Given the description of an element on the screen output the (x, y) to click on. 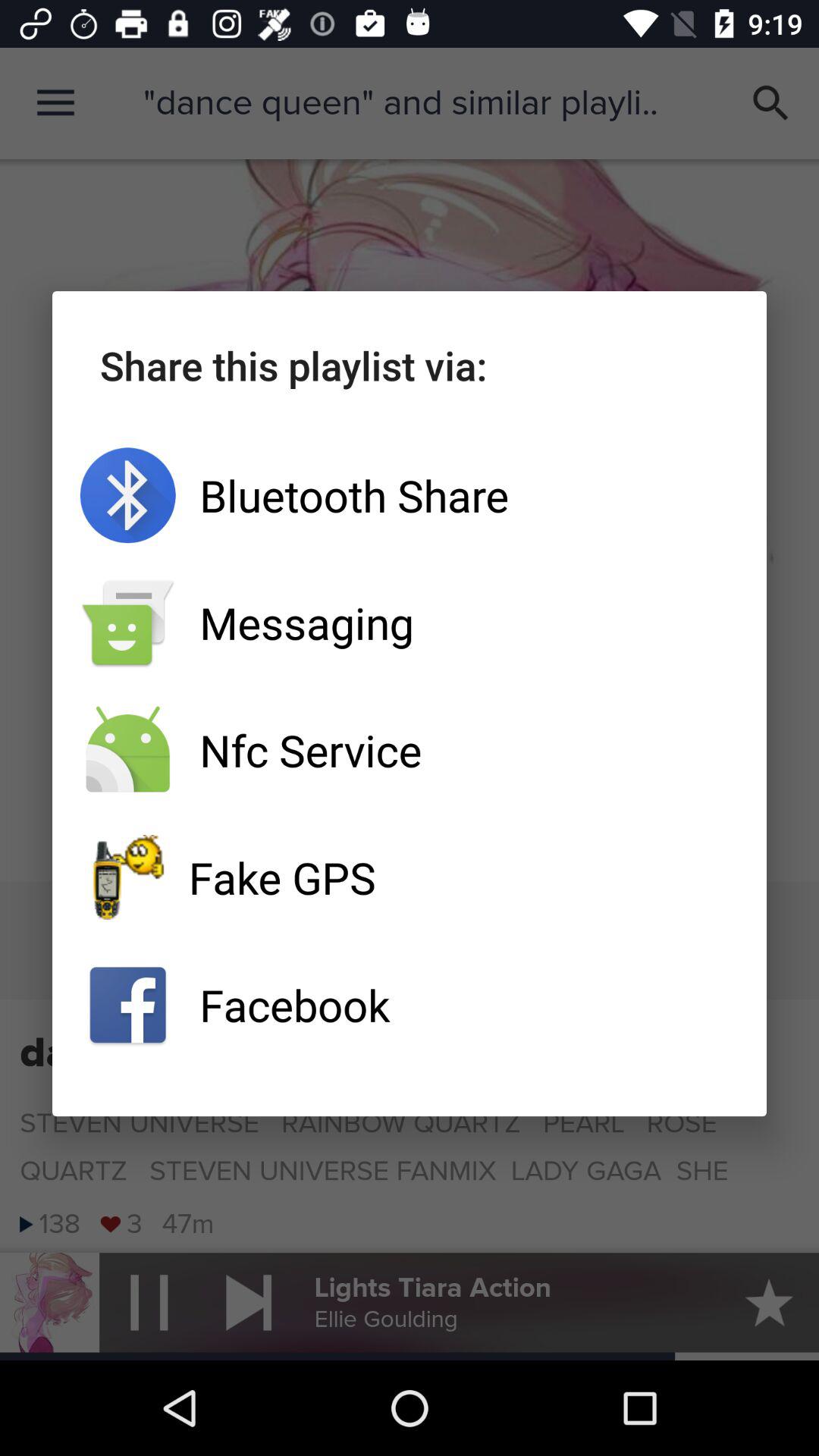
click icon below bluetooth share icon (409, 622)
